Given the description of an element on the screen output the (x, y) to click on. 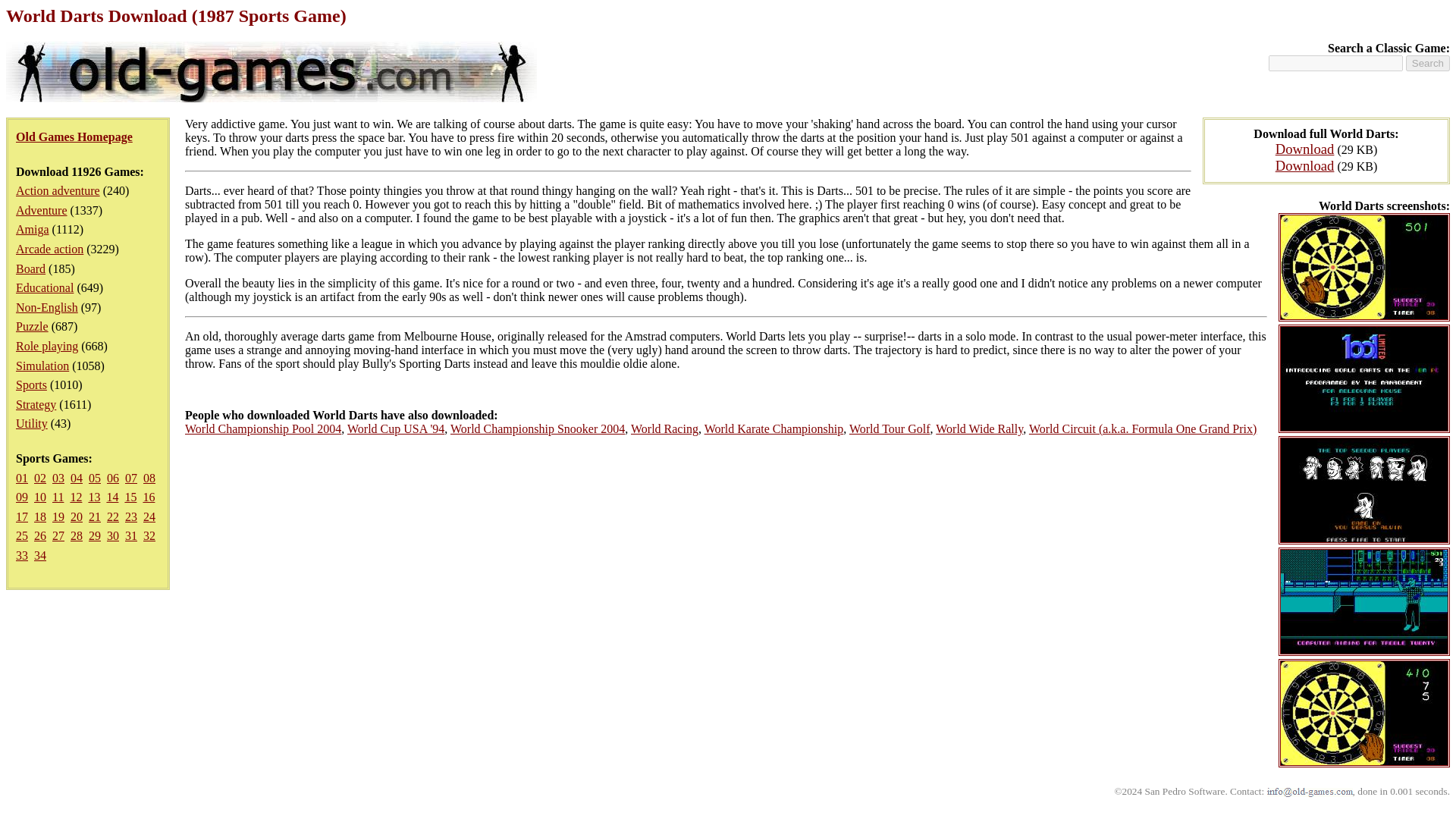
Non-English (47, 307)
09 (21, 496)
Utility (32, 422)
Board (30, 268)
21 (94, 516)
Adventure (41, 210)
07 (130, 477)
13 (93, 496)
23 (130, 516)
01 (21, 477)
04 (75, 477)
Sports (31, 384)
Amiga (32, 228)
03 (58, 477)
Action adventure (58, 190)
